Given the description of an element on the screen output the (x, y) to click on. 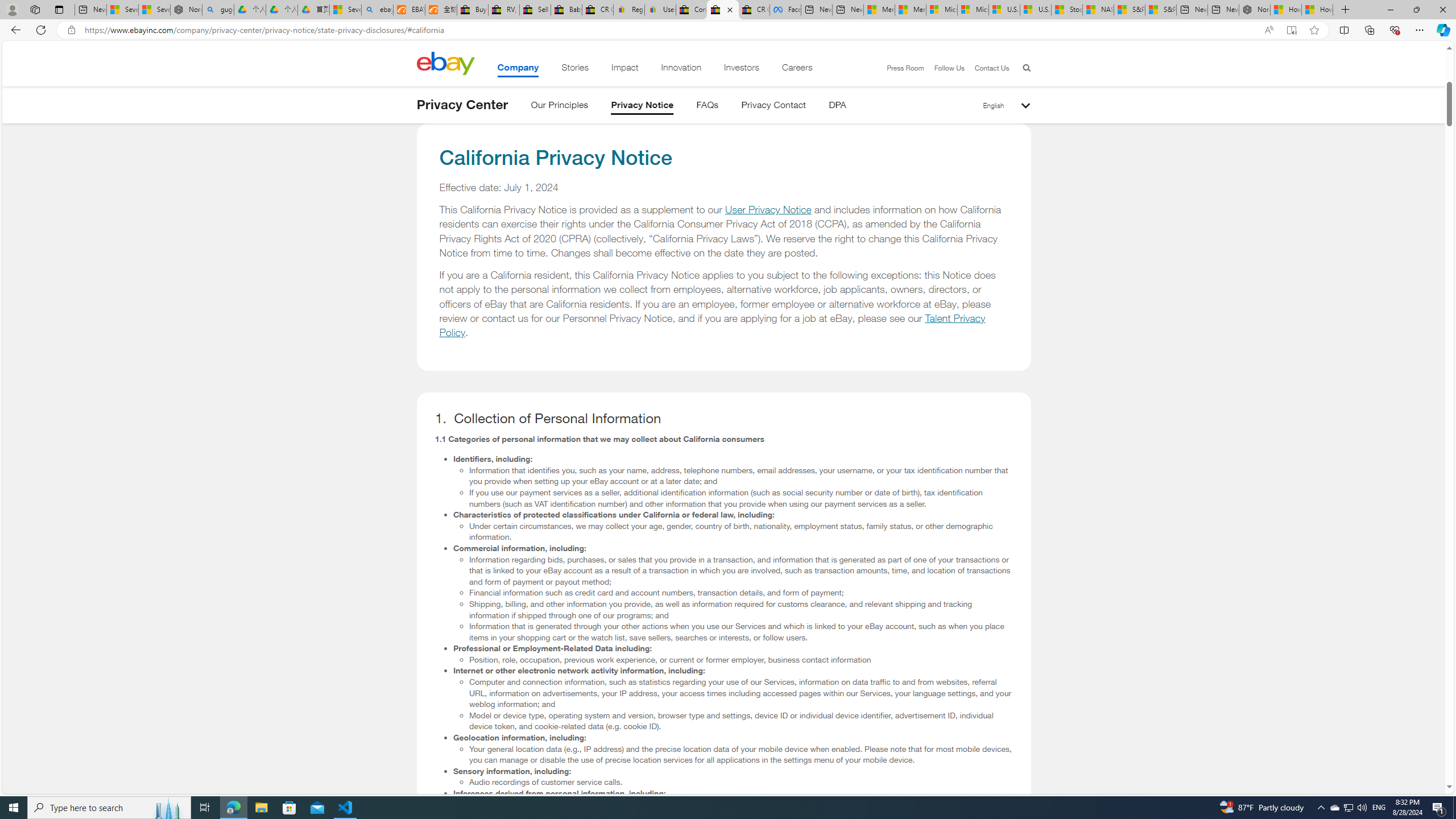
Consumer Health Data Privacy Policy - eBay Inc. (691, 9)
